Given the description of an element on the screen output the (x, y) to click on. 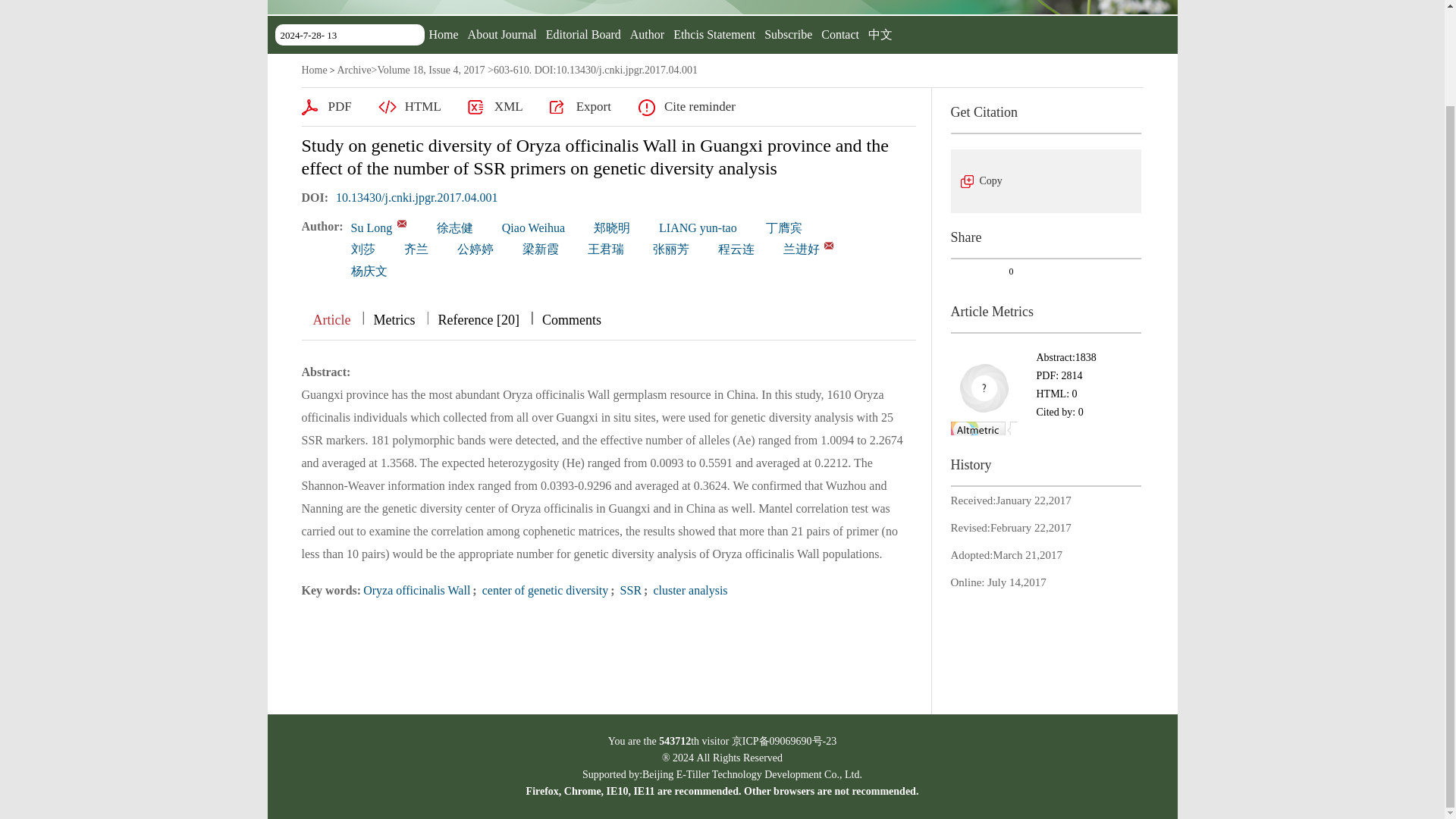
Cite reminder (686, 106)
Export (580, 106)
Ethcis Statement (713, 33)
HTML (409, 106)
Archive (353, 70)
Home (443, 33)
Su Long (371, 227)
Author (646, 33)
XML (494, 106)
About Journal (502, 33)
Home (314, 70)
Contact (840, 33)
Qiao Weihua (533, 227)
Editorial Board (583, 33)
Subscribe (788, 33)
